Given the description of an element on the screen output the (x, y) to click on. 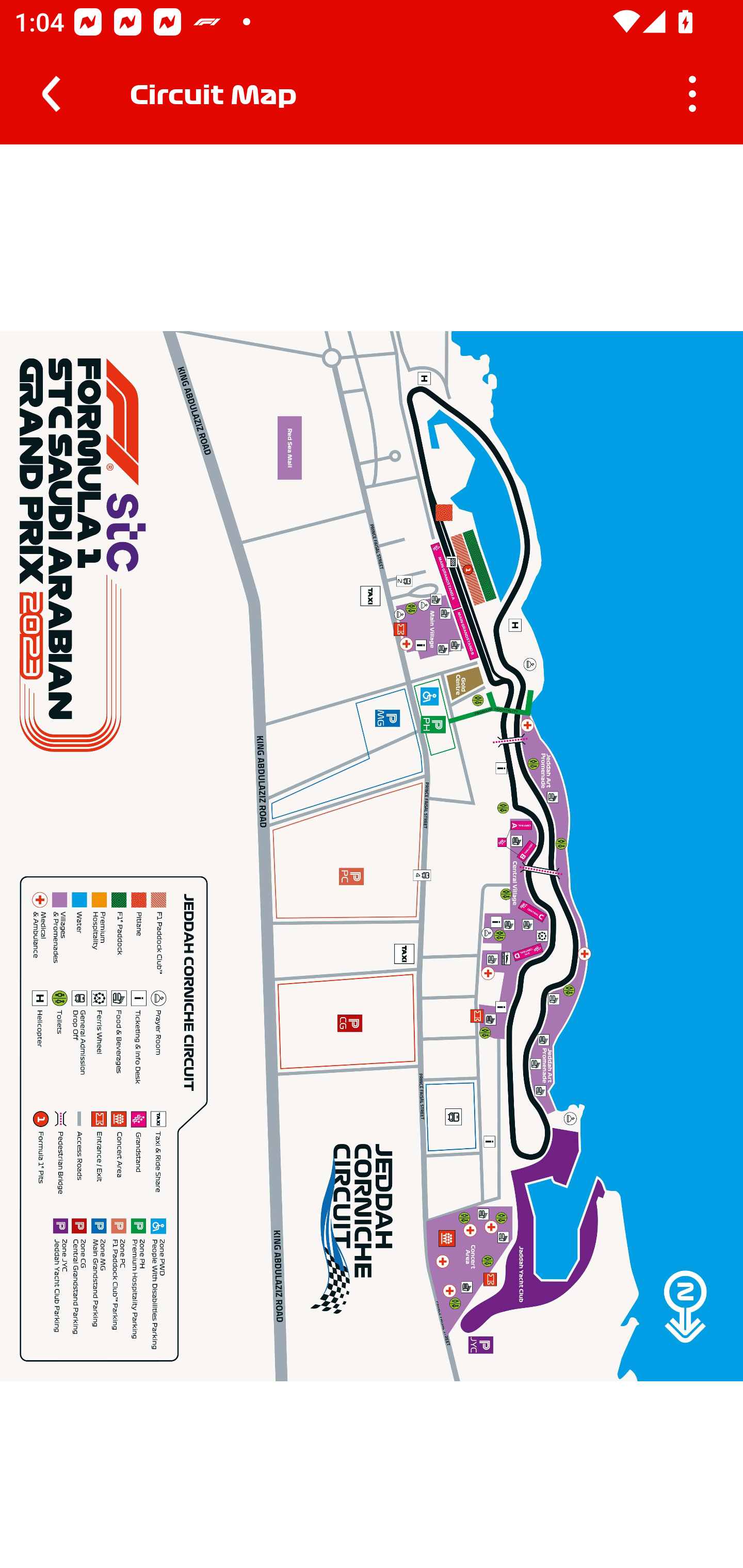
Navigate up (50, 93)
